Given the description of an element on the screen output the (x, y) to click on. 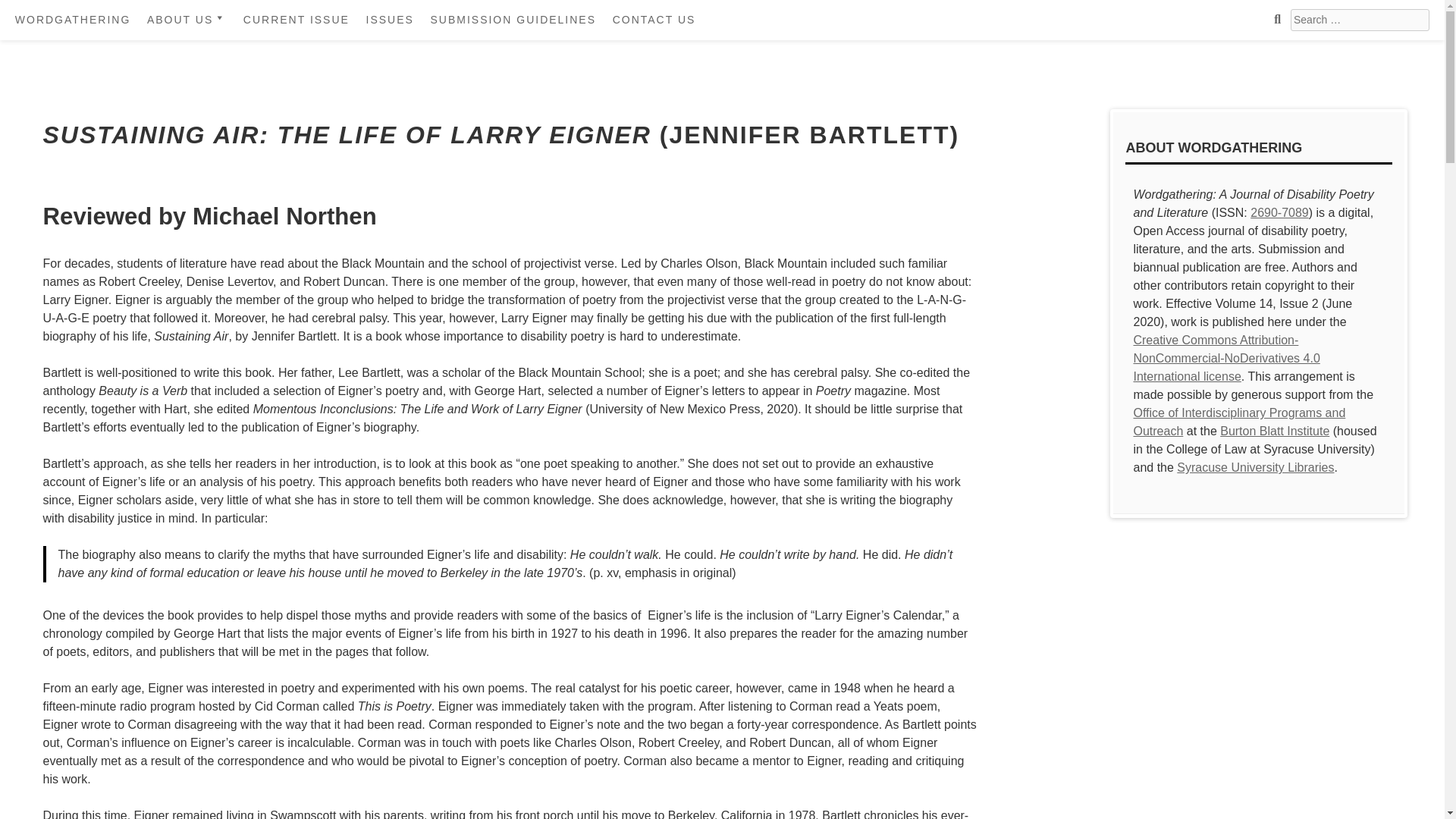
2690-7089 (1279, 212)
MASTHEAD (227, 52)
CURRENT ISSUE (296, 19)
Syracuse University Libraries (1254, 467)
PARTNERSHIPS AND EVENTS (227, 156)
SUBMISSION GUIDELINES (512, 19)
FAQ (227, 121)
DISABILITY FUTURES IN THE ARTS (227, 87)
ABOUT US (186, 19)
WORDGATHERING (72, 19)
